Given the description of an element on the screen output the (x, y) to click on. 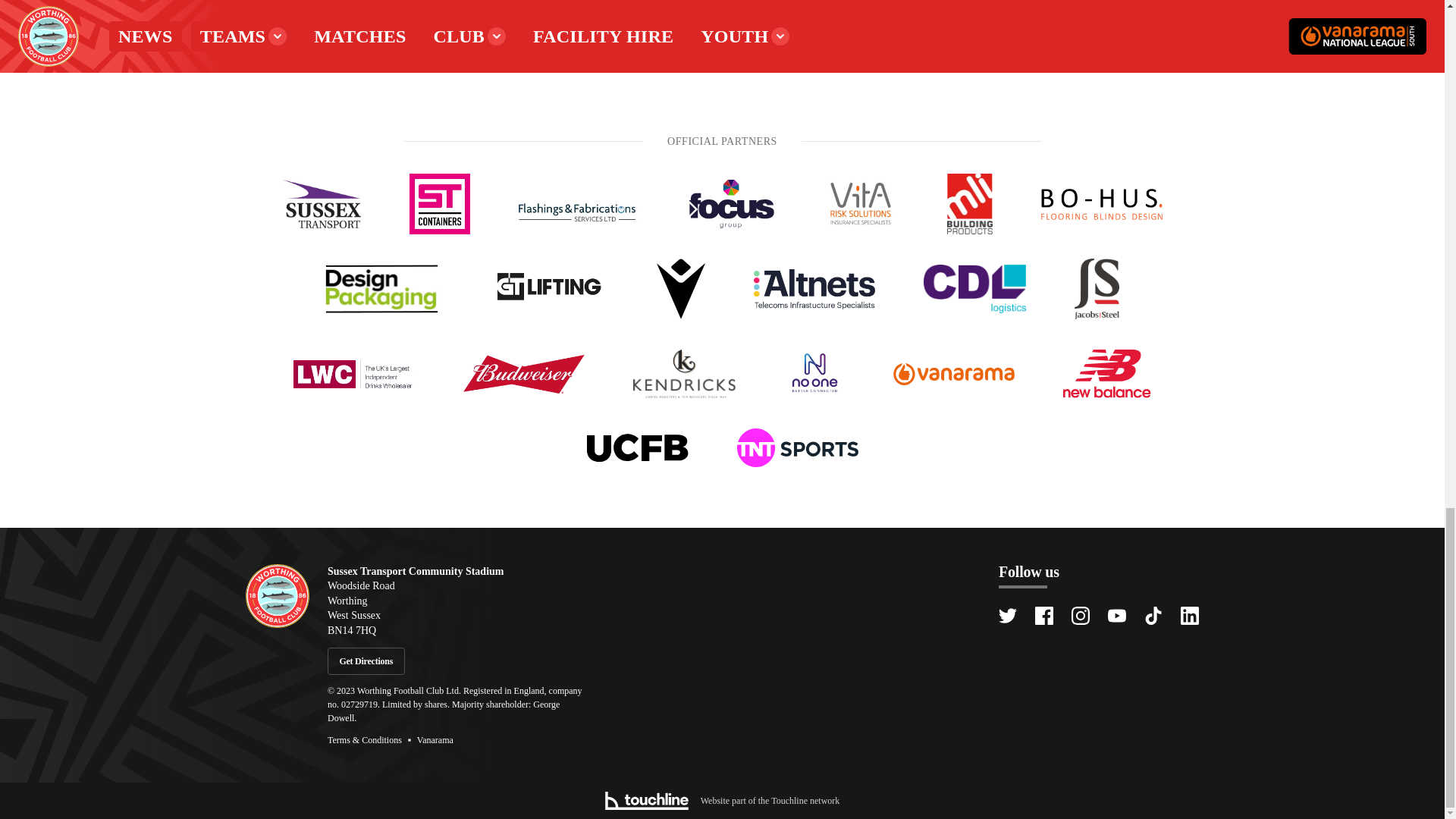
Find us on YouTube (1116, 615)
Find us on Instagram (1080, 615)
Find us on Facebook (1043, 615)
Find us on LinkedIn (1189, 615)
Find us on TikTok (1152, 615)
Find us on Twitter (1007, 615)
